Given the description of an element on the screen output the (x, y) to click on. 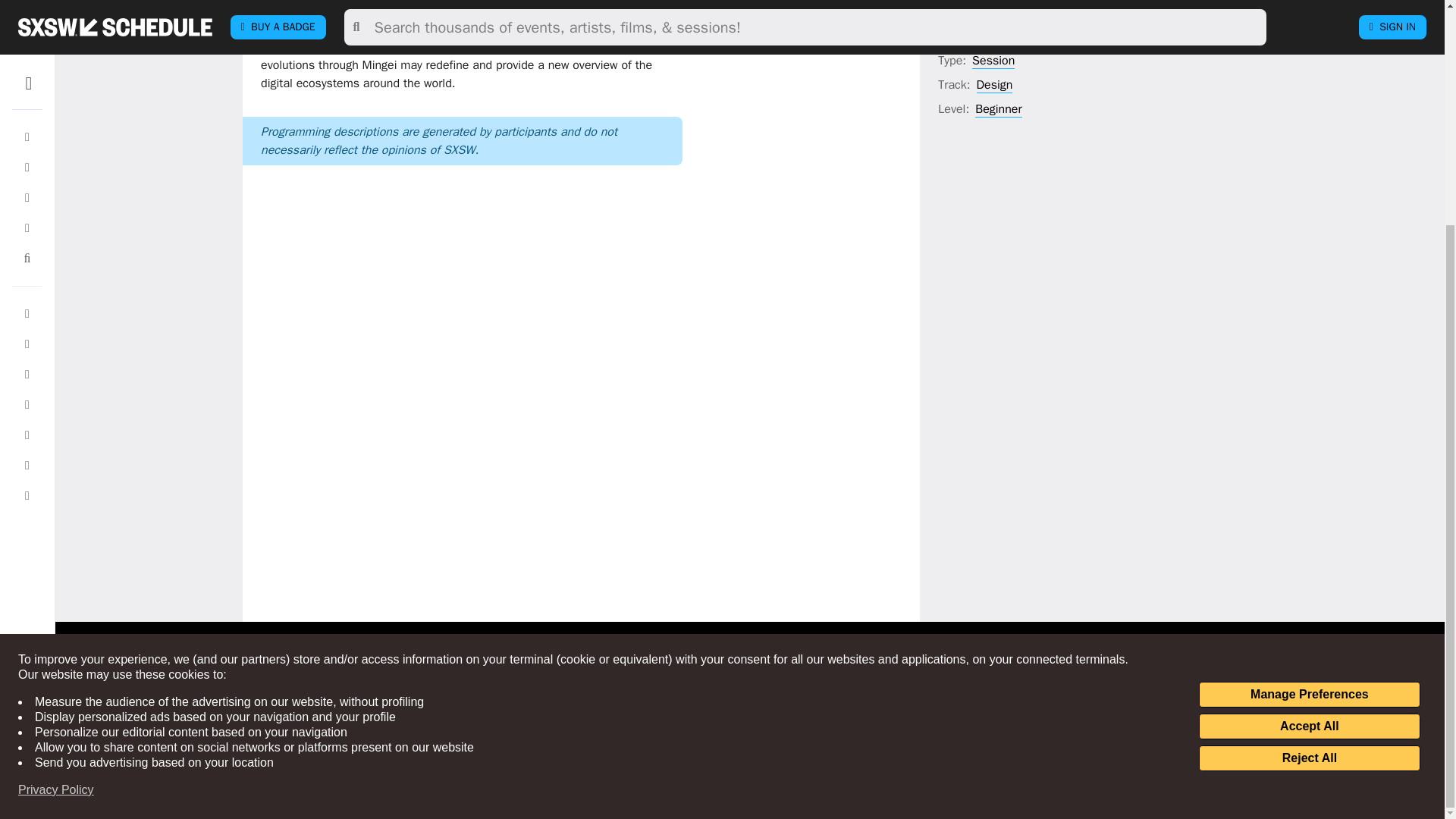
Reject All (1309, 457)
Manage Preferences (1309, 394)
Privacy Policy (55, 489)
Accept All (1309, 425)
